Given the description of an element on the screen output the (x, y) to click on. 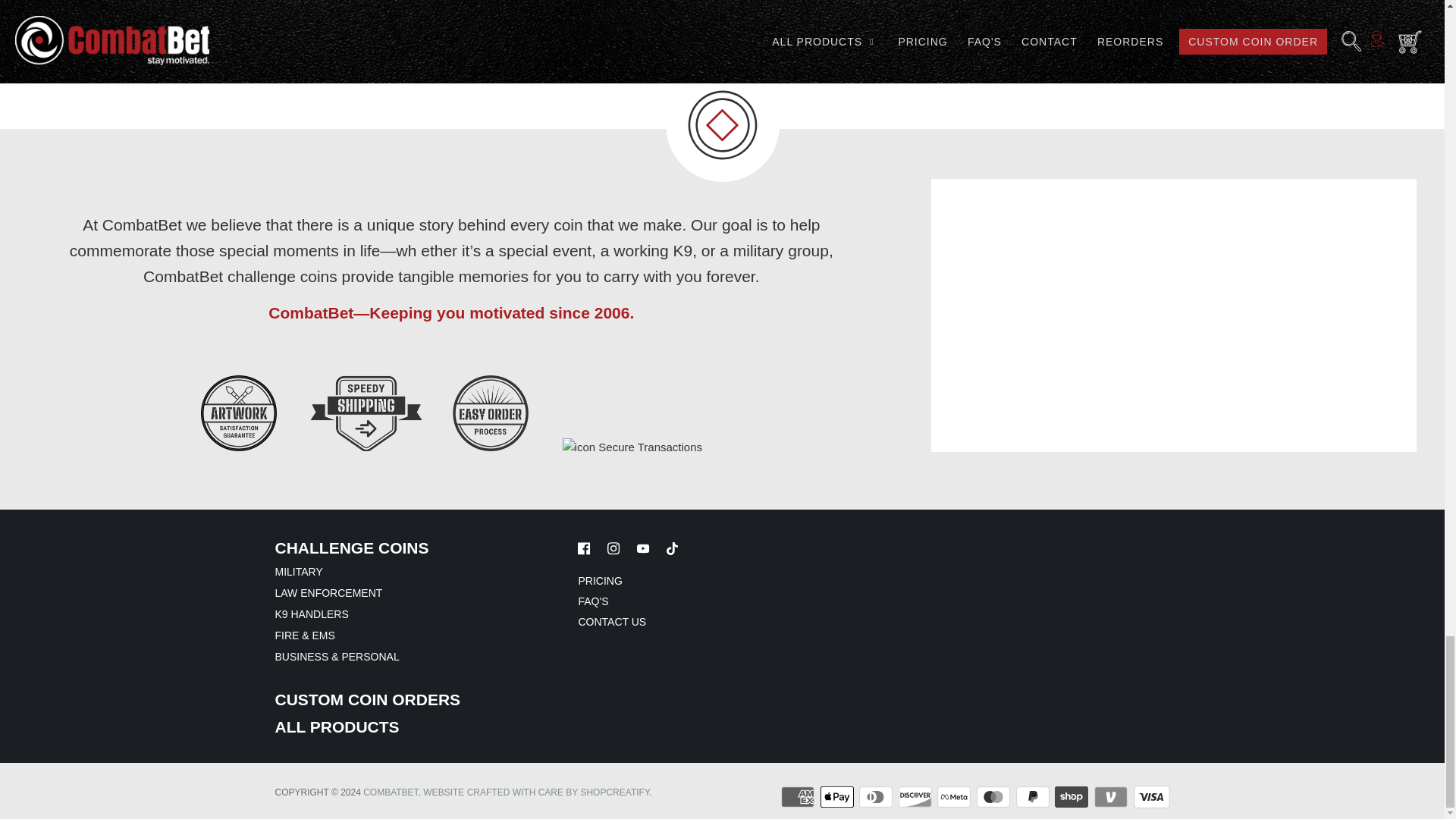
Discover (916, 796)
Apple Pay (839, 796)
Website crafted with care by ShopCreatify (536, 792)
American Express (798, 796)
Meta Pay (955, 796)
Diners Club (877, 796)
